Given the description of an element on the screen output the (x, y) to click on. 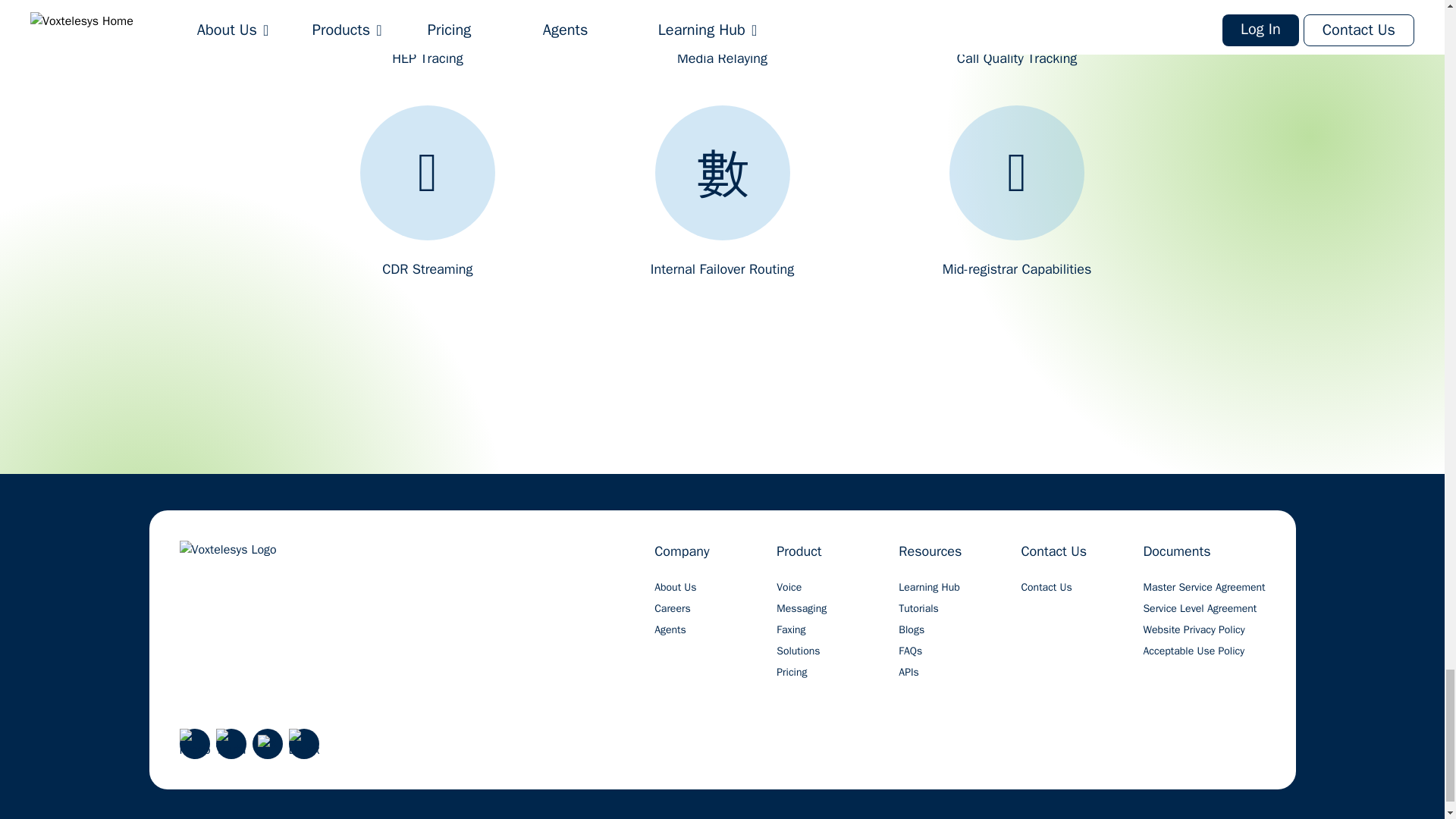
Media Relaying (721, 34)
FAQs (909, 651)
Solutions (797, 651)
Messaging (801, 608)
HEP Tracing (427, 34)
Call Quality Tracking (1017, 34)
Blogs (911, 630)
Learning Hub (928, 587)
Faxing (790, 630)
Careers (671, 608)
